Given the description of an element on the screen output the (x, y) to click on. 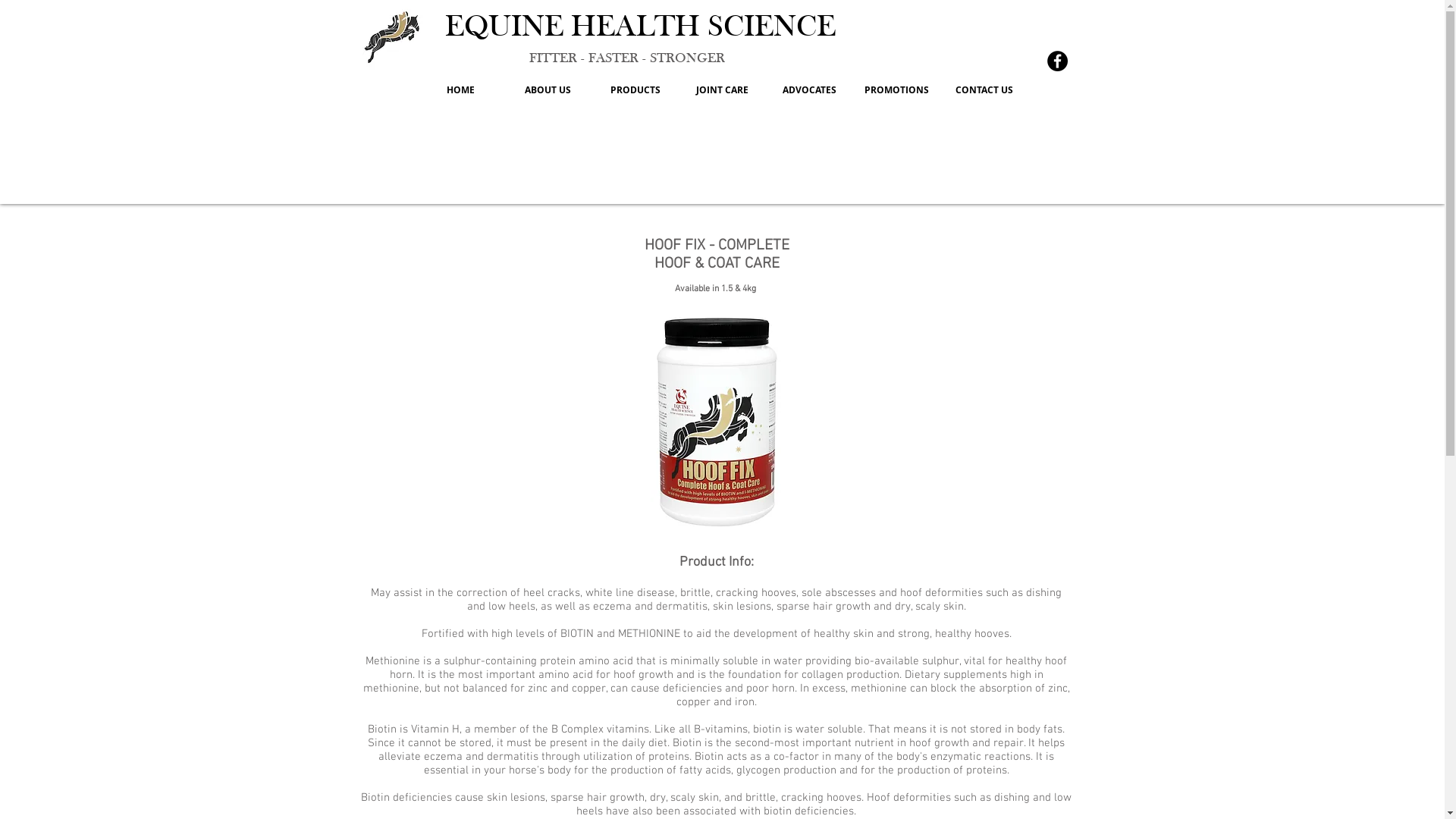
PROMOTIONS Element type: text (896, 90)
JOINT CARE Element type: text (721, 90)
ADVOCATES Element type: text (809, 90)
ABOUT US Element type: text (547, 90)
HOME Element type: text (460, 90)
PRODUCTS Element type: text (634, 90)
CONTACT US Element type: text (983, 90)
